Given the description of an element on the screen output the (x, y) to click on. 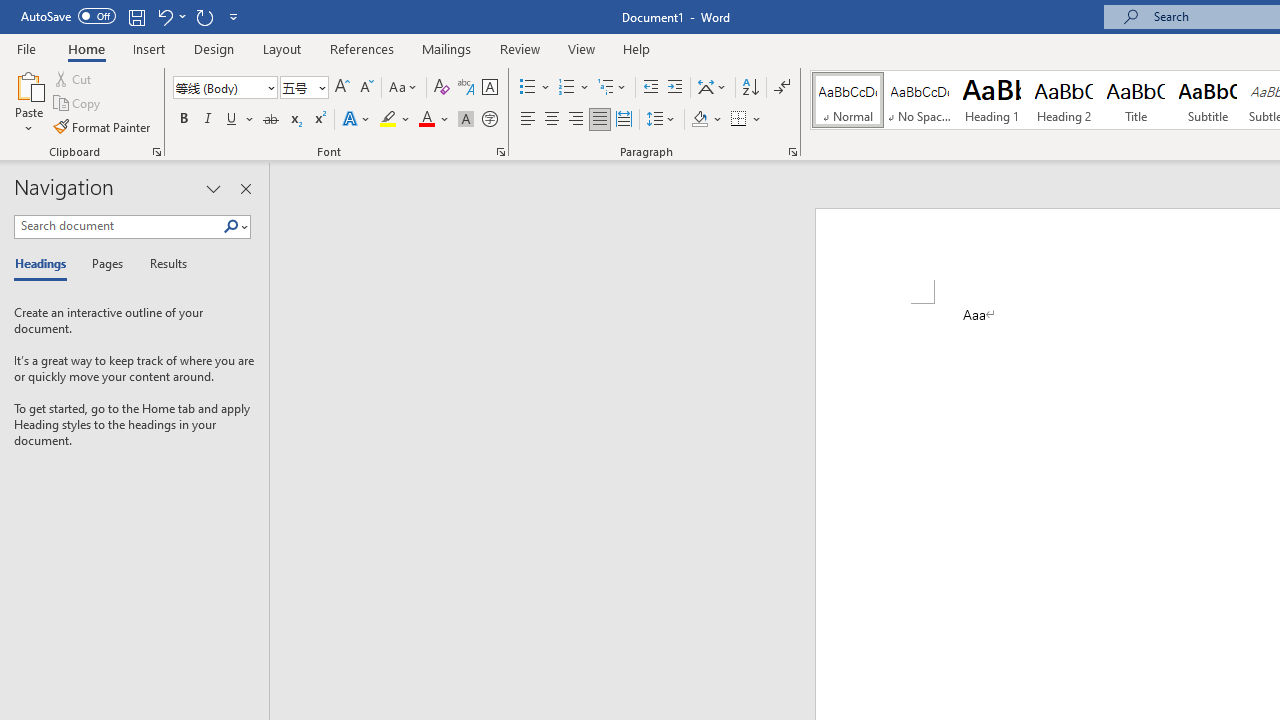
Shrink Font (365, 87)
Justify (599, 119)
Undo Increase Indent (164, 15)
Italic (207, 119)
Undo Increase Indent (170, 15)
Align Left (527, 119)
Repeat Increase Indent (204, 15)
Character Shading (465, 119)
Copy (78, 103)
